Given the description of an element on the screen output the (x, y) to click on. 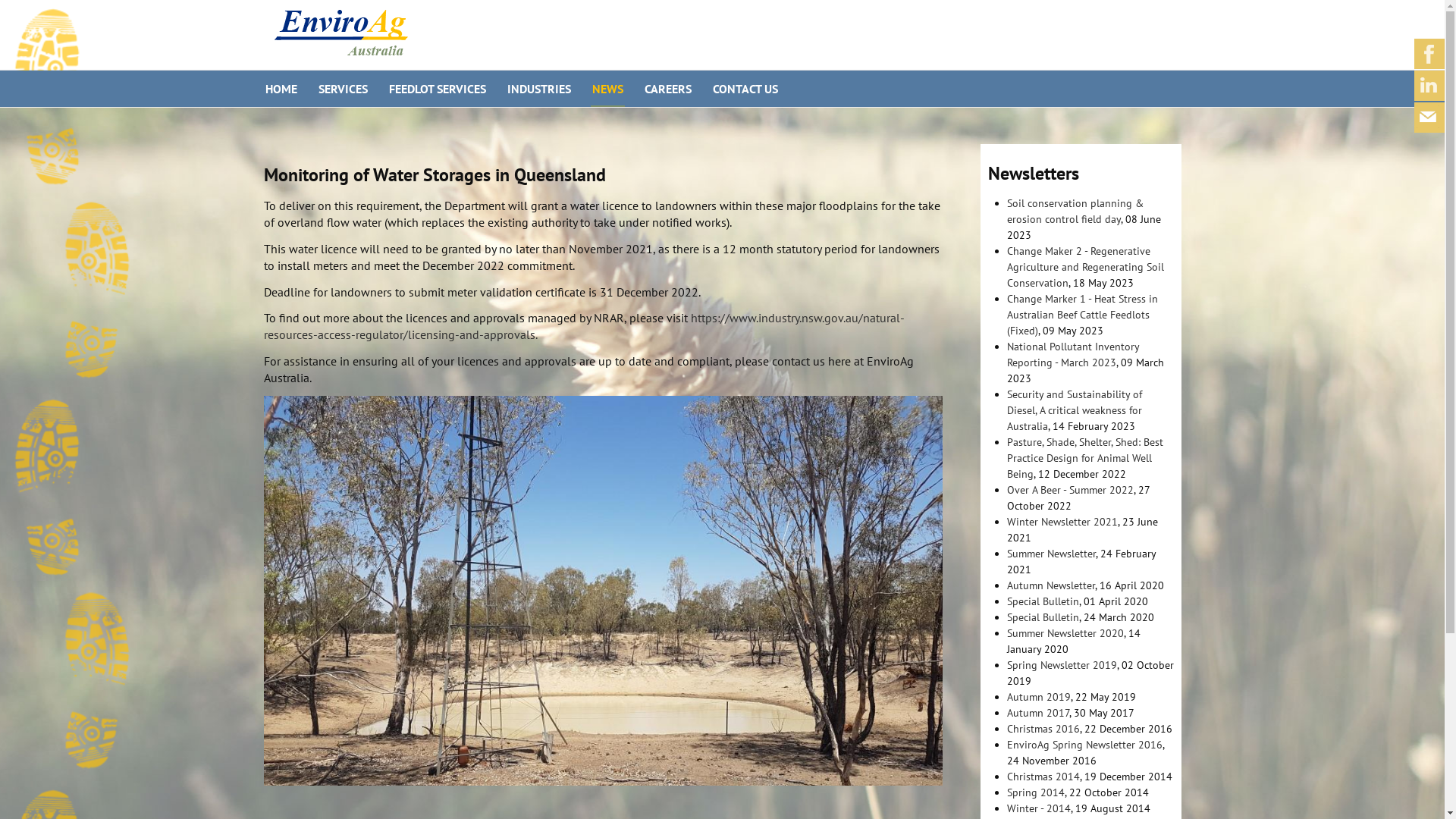
Over A Beer - Summer 2022 Element type: text (1070, 489)
CONTACT US Element type: text (745, 88)
FEEDLOT SERVICES Element type: text (436, 88)
Christmas 2016 Element type: text (1043, 728)
National Pollutant Inventory Reporting - March 2023 Element type: text (1073, 354)
HOME Element type: text (280, 88)
INDUSTRIES Element type: text (538, 88)
EnviroAg Spring Newsletter 2016 Element type: text (1084, 744)
Summer Newsletter 2020 Element type: text (1065, 633)
Spring 2014 Element type: text (1035, 792)
NEWS Element type: text (606, 88)
Summer Newsletter Element type: text (1051, 553)
Soil conservation planning & erosion control field day Element type: text (1075, 210)
Winter - 2014 Element type: text (1038, 808)
Special Bulletin Element type: text (1043, 601)
Autumn 2019 Element type: text (1038, 696)
Autumn 2017 Element type: text (1038, 712)
Christmas 2014 Element type: text (1043, 776)
Winter Newsletter 2021 Element type: text (1062, 521)
SERVICES Element type: text (342, 88)
Spring Newsletter 2019 Element type: text (1062, 664)
CAREERS Element type: text (668, 88)
Autumn Newsletter Element type: text (1051, 585)
Special Bulletin Element type: text (1043, 617)
